Given the description of an element on the screen output the (x, y) to click on. 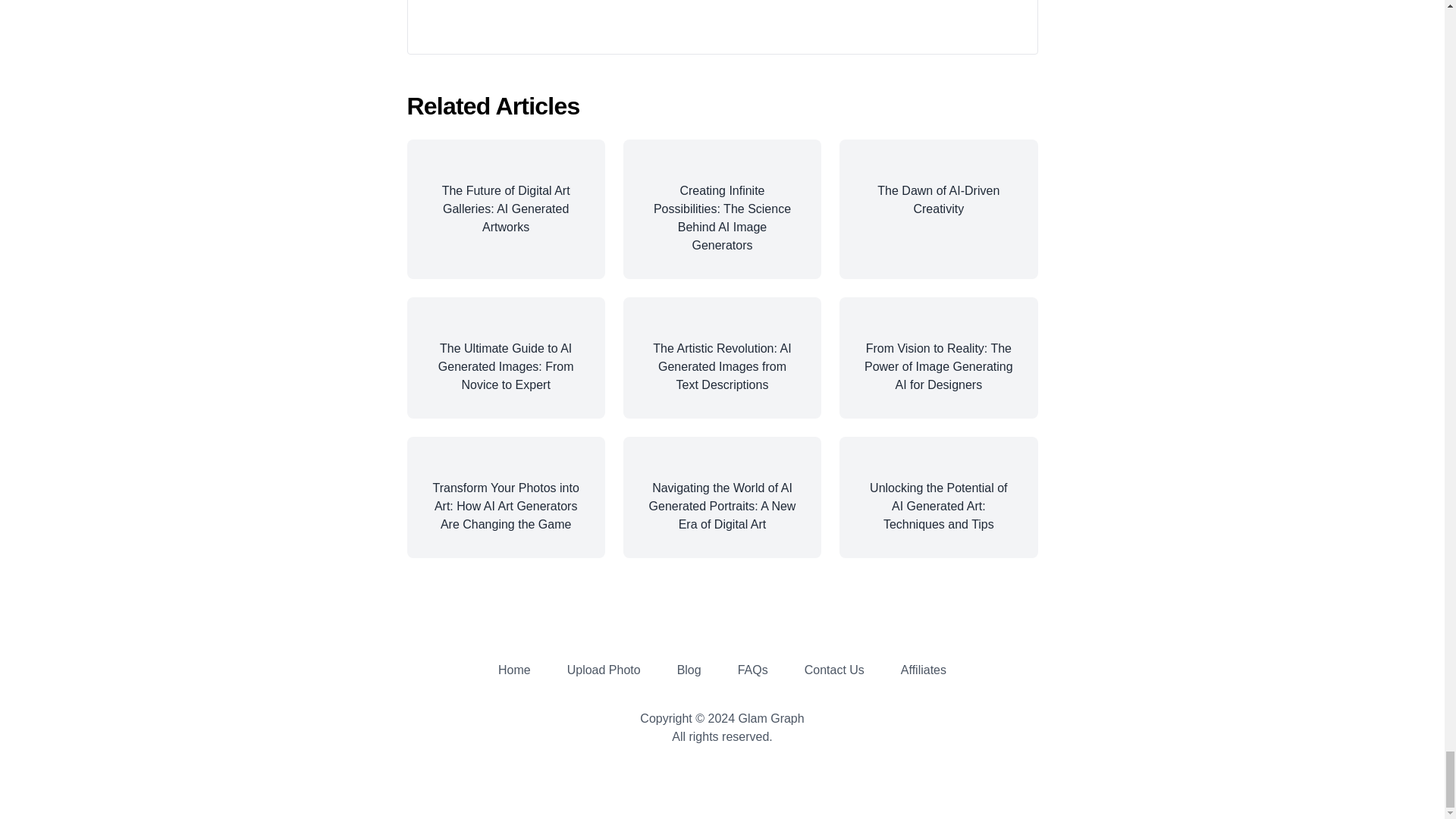
The Future of Digital Art Galleries: AI Generated Artworks (505, 209)
Contact Us (834, 669)
Blog (689, 669)
Upload Photo (603, 669)
FAQs (753, 669)
